Given the description of an element on the screen output the (x, y) to click on. 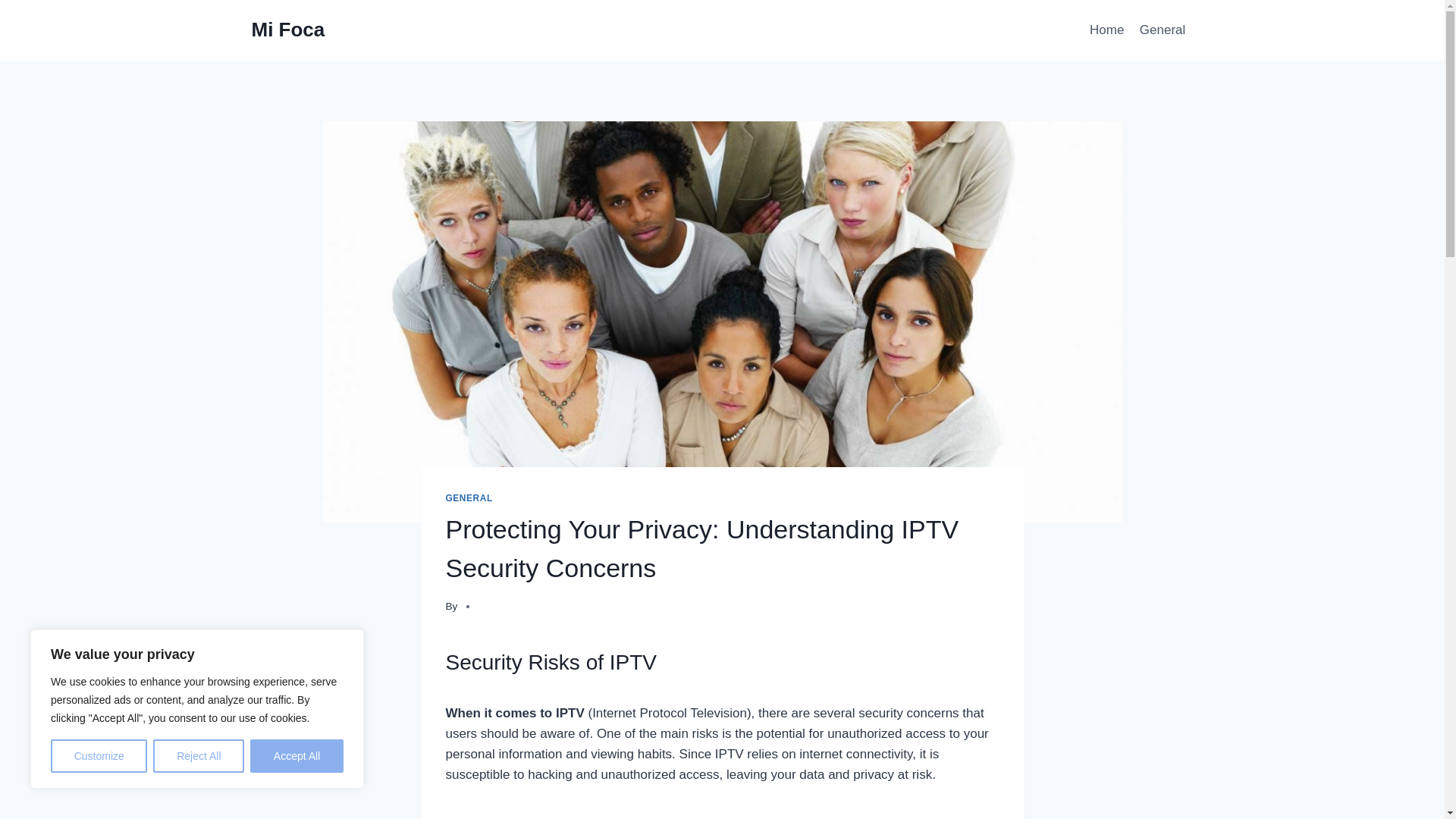
Reject All (198, 756)
Mi Foca (287, 29)
GENERAL (469, 498)
Accept All (296, 756)
General (1162, 30)
Customize (98, 756)
Home (1106, 30)
